Given the description of an element on the screen output the (x, y) to click on. 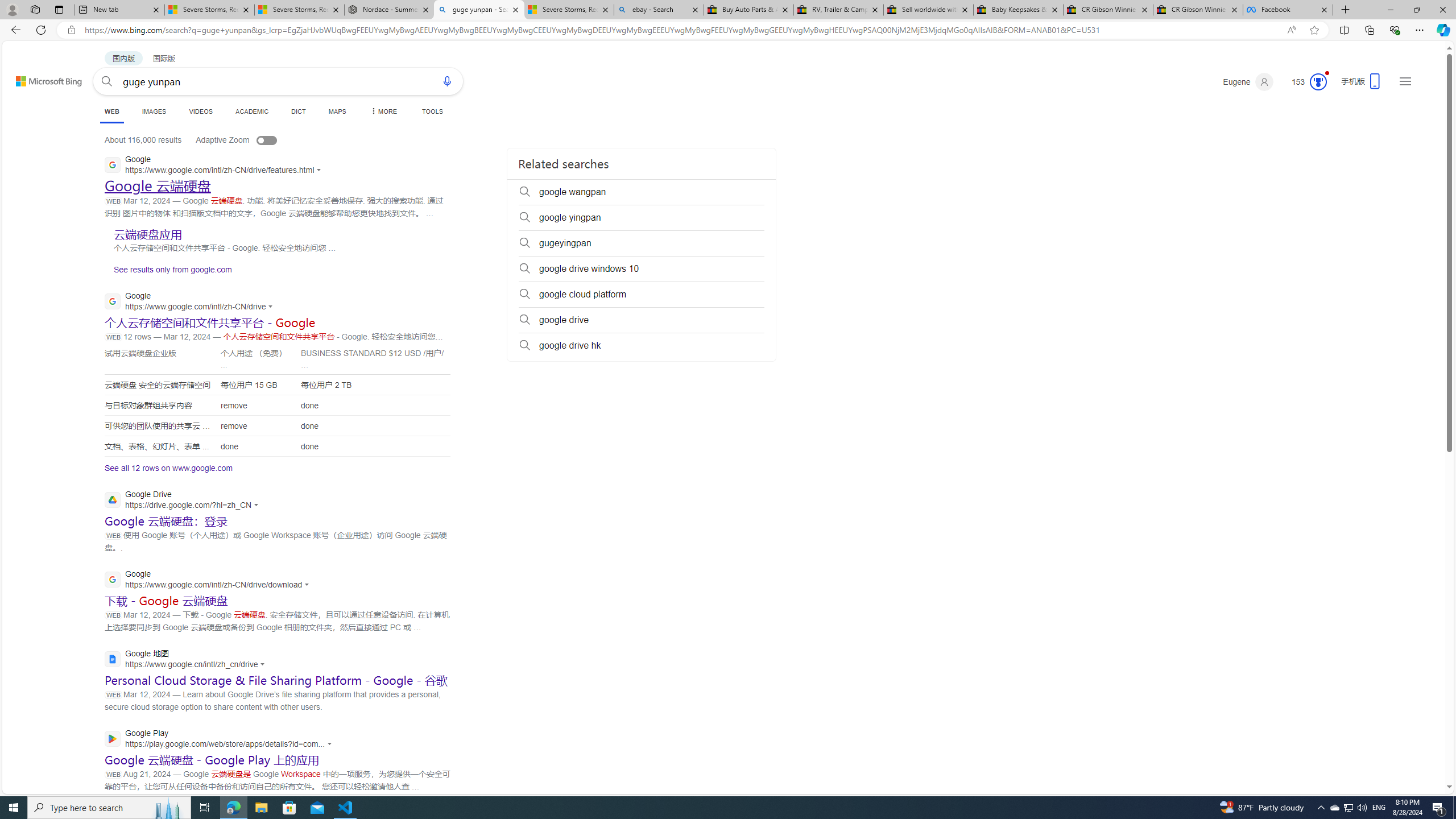
Back (13, 29)
google drive hk (641, 345)
Close (1442, 9)
Class: medal-circled (1317, 81)
Sell worldwide with eBay (928, 9)
New tab (118, 9)
Global web icon (111, 738)
DICT (298, 111)
TOOLS (431, 111)
Search more (1423, 753)
Search using voice (446, 80)
Workspaces (34, 9)
